Given the description of an element on the screen output the (x, y) to click on. 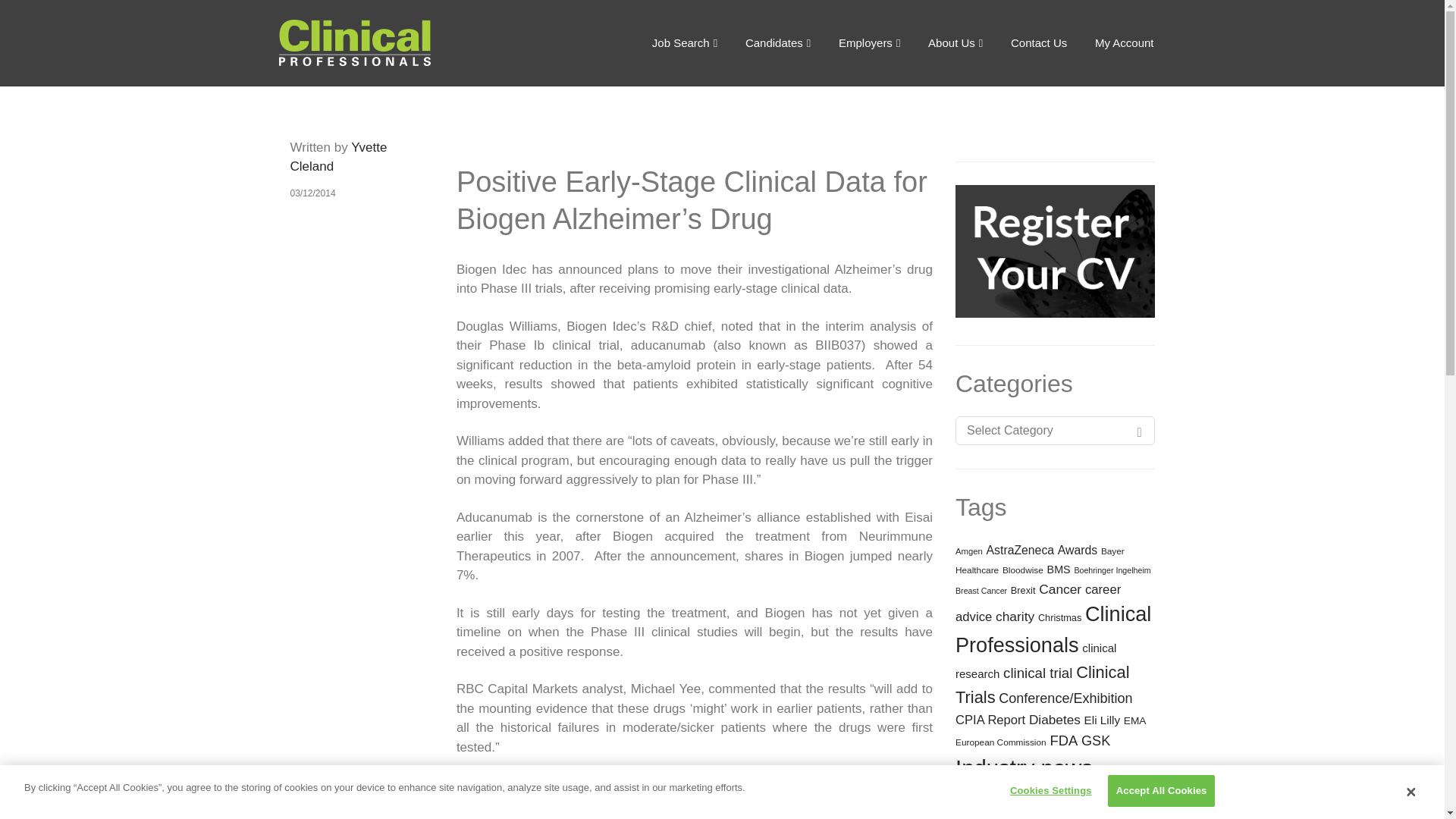
Clinical Professionals (391, 43)
Employers (869, 43)
CLINICAL PROFESSIONALS (391, 43)
Candidates (777, 43)
Job Search (684, 43)
